Given the description of an element on the screen output the (x, y) to click on. 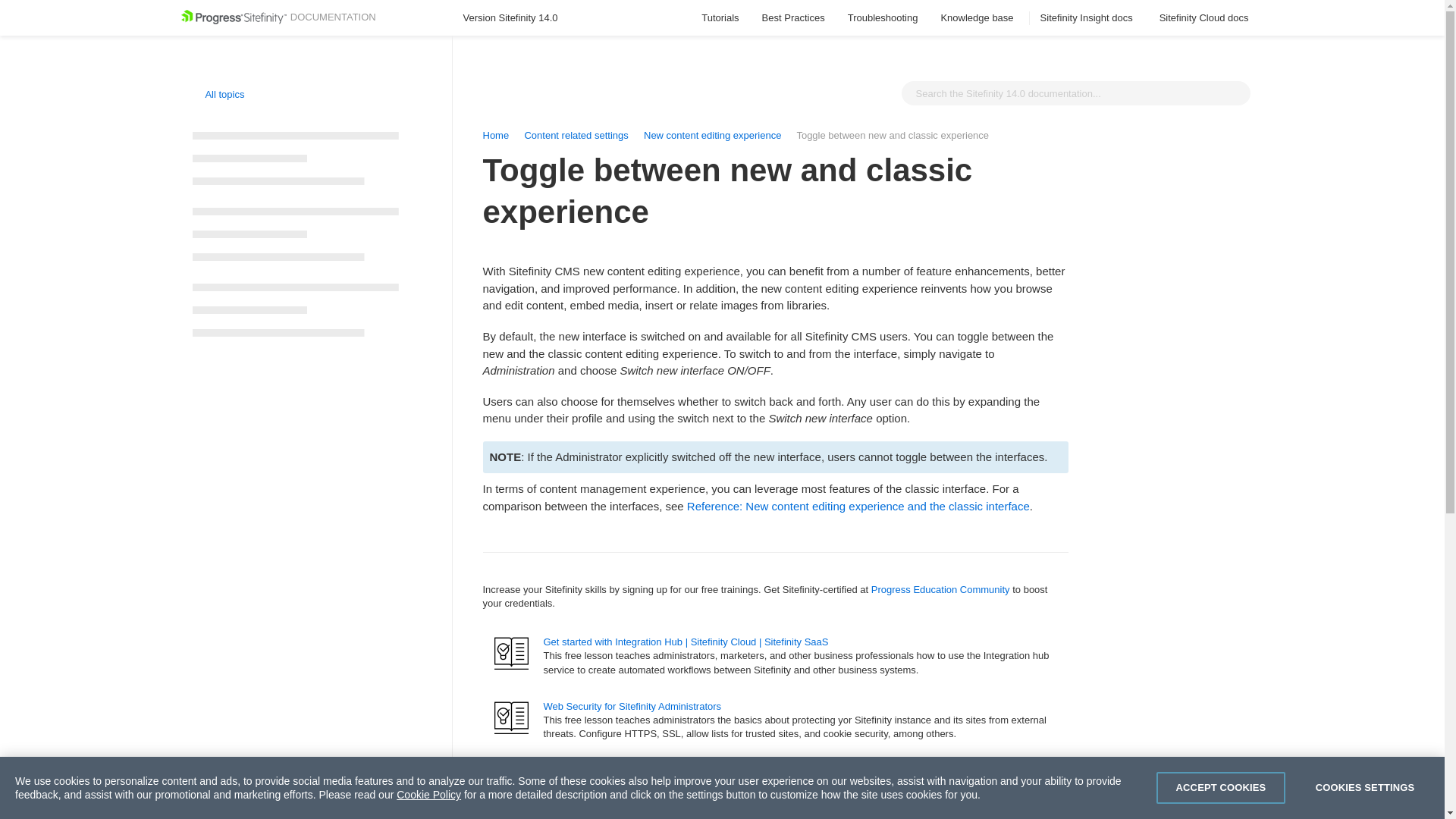
Sitefinity Insight docs (1088, 18)
DOCUMENTATION (277, 16)
Web Security for Sitefinity Administrators (631, 706)
Content related settings (575, 134)
All topics (218, 93)
Progress Education Community (940, 589)
Sitefinity Cloud docs (1205, 18)
Search (1234, 93)
Best Practices (793, 18)
Tutorials (719, 18)
Knowledge base (977, 18)
Version Sitefinity 14.0 (517, 18)
Troubleshooting (882, 18)
Home (494, 134)
Foundations of Sitefinity ASP.NET Core Development (659, 769)
